Given the description of an element on the screen output the (x, y) to click on. 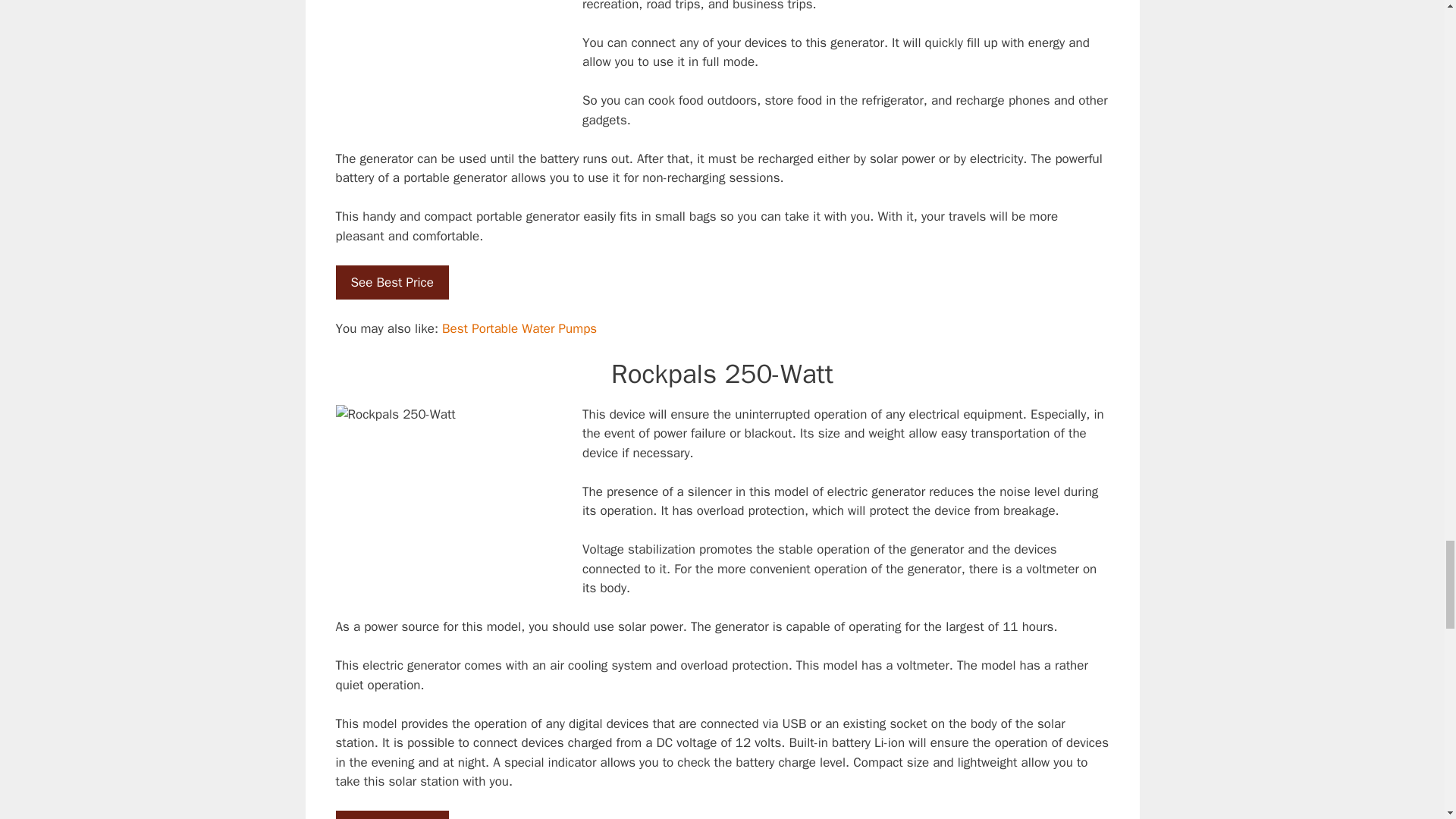
See Best Price (391, 814)
See Best Price (391, 282)
Best Portable Water Pumps (519, 328)
